Given the description of an element on the screen output the (x, y) to click on. 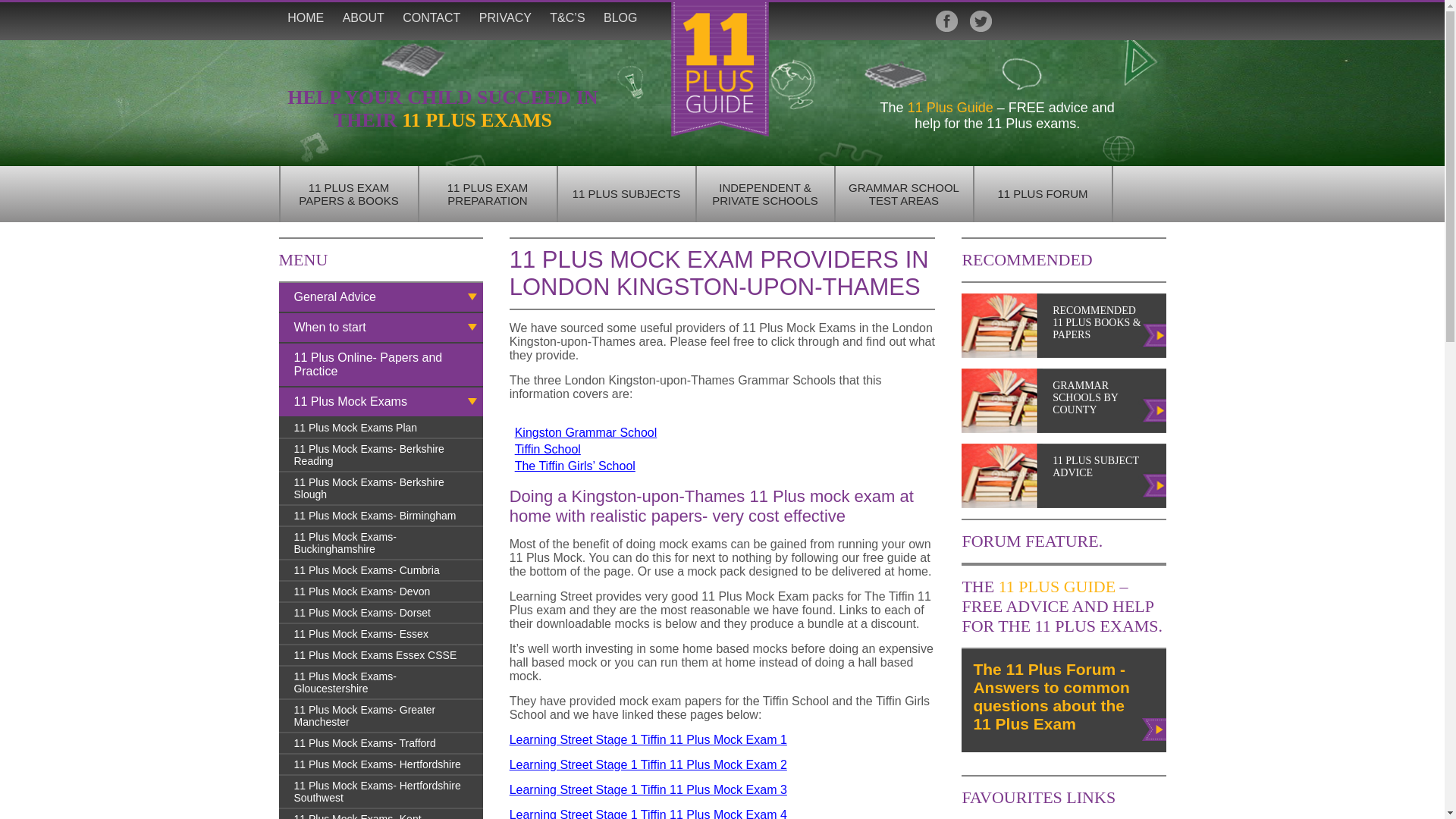
11 PLUS EXAM PREPARATION Element type: text (487, 193)
11 Plus Mock Exams- Devon Element type: text (381, 591)
11 Plus Mock Exams- Essex Element type: text (381, 634)
11 PLUS EXAM PAPERS & BOOKS Element type: text (348, 193)
11 PLUS FORUM Element type: text (1042, 193)
11 Plus Mock Exams- Dorset Element type: text (381, 613)
Tiffin School Element type: text (547, 448)
Kingston Grammar School Element type: text (585, 432)
11 Plus Mock Exams- Hertfordshire Southwest Element type: text (381, 792)
11 PLUS SUBJECTS Element type: text (626, 193)
11 Plus Mock Exams Element type: text (381, 402)
11 Plus Mock Exams- Birmingham Element type: text (381, 516)
Learning Street Stage 1 Tiffin 11 Plus Mock Exam 3 Element type: text (648, 789)
INDEPENDENT & PRIVATE SCHOOLS Element type: text (764, 193)
Learning Street Stage 1 Tiffin 11 Plus Mock Exam 1 Element type: text (648, 739)
Learning Street Stage 1 Tiffin 11 Plus Mock Exam 2 Element type: text (648, 764)
When to start Element type: text (381, 328)
HOME Element type: text (305, 17)
11 Plus Mock Exams- Hertfordshire Element type: text (381, 764)
11 Plus Mock Exams- Berkshire Slough Element type: text (381, 488)
11 Plus Mock Exams- Gloucestershire Element type: text (381, 682)
11 Plus Mock Exams Plan Element type: text (381, 428)
11 Plus Online- Papers and Practice Element type: text (381, 365)
11 Plus Subject Advice Element type: hover (1154, 475)
11 Plus Books and Papers Element type: hover (1154, 337)
11 Plus Mock Exams- Trafford Element type: text (381, 743)
CONTACT Element type: text (431, 17)
GRAMMAR SCHOOL TEST AREAS Element type: text (903, 193)
11 Plus Mock Exams- Cumbria Element type: text (381, 570)
BLOG Element type: text (620, 17)
View Element type: text (1154, 728)
11 Plus Mock Exams- Berkshire Reading Element type: text (381, 455)
11 Plus Mock Exams- Greater Manchester Element type: text (381, 716)
11 Plus Mock Exams- Buckinghamshire Element type: text (381, 543)
PRIVACY Element type: text (505, 17)
General Advice Element type: text (381, 297)
11 Plus Mock Exams Essex CSSE Element type: text (381, 655)
ABOUT Element type: text (363, 17)
